Given the description of an element on the screen output the (x, y) to click on. 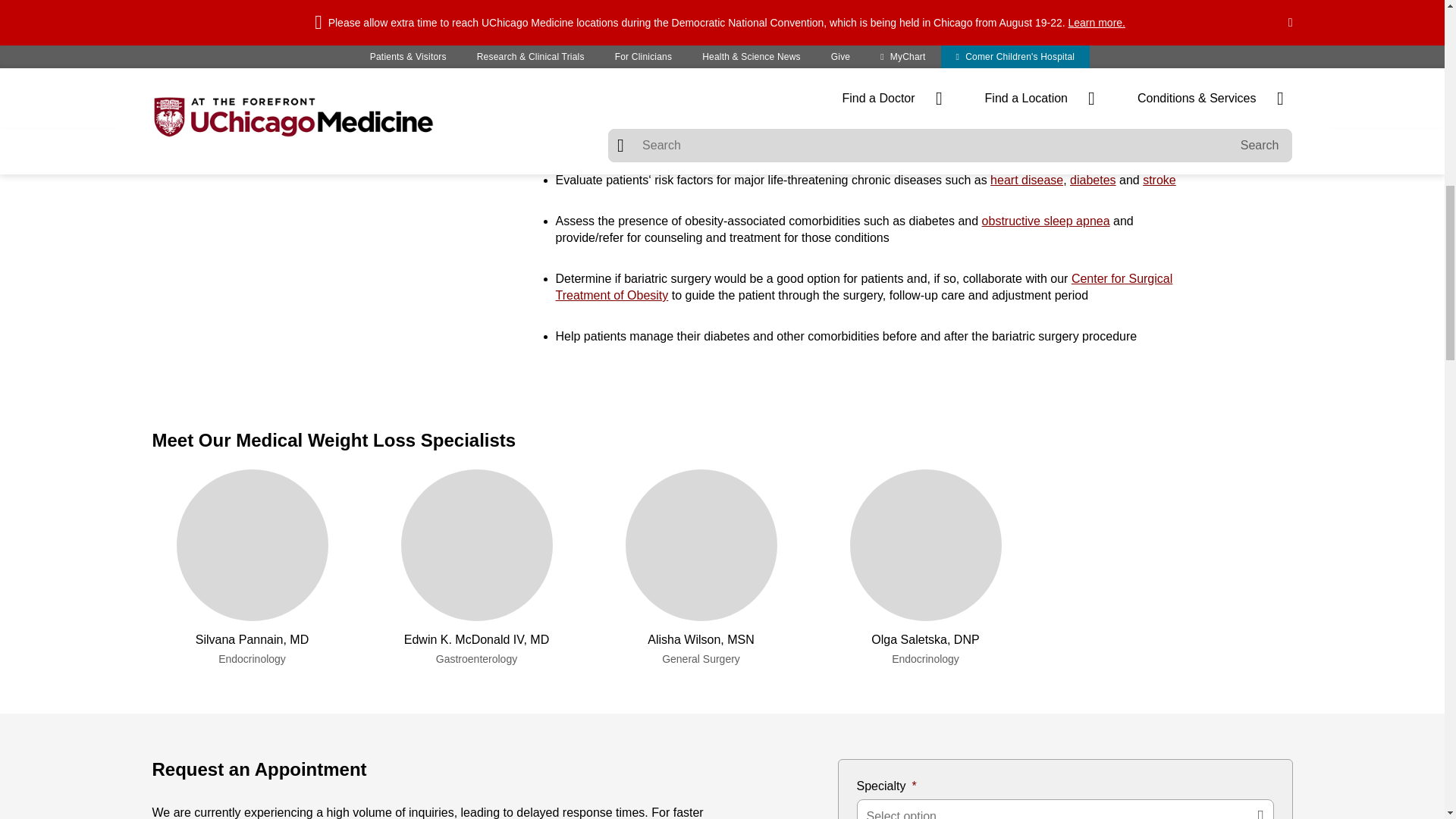
stroke (1159, 179)
heart disease (1026, 179)
thyroid diseases (793, 81)
diabetes (1093, 179)
polycystic ovary syndrome (1050, 81)
